Given the description of an element on the screen output the (x, y) to click on. 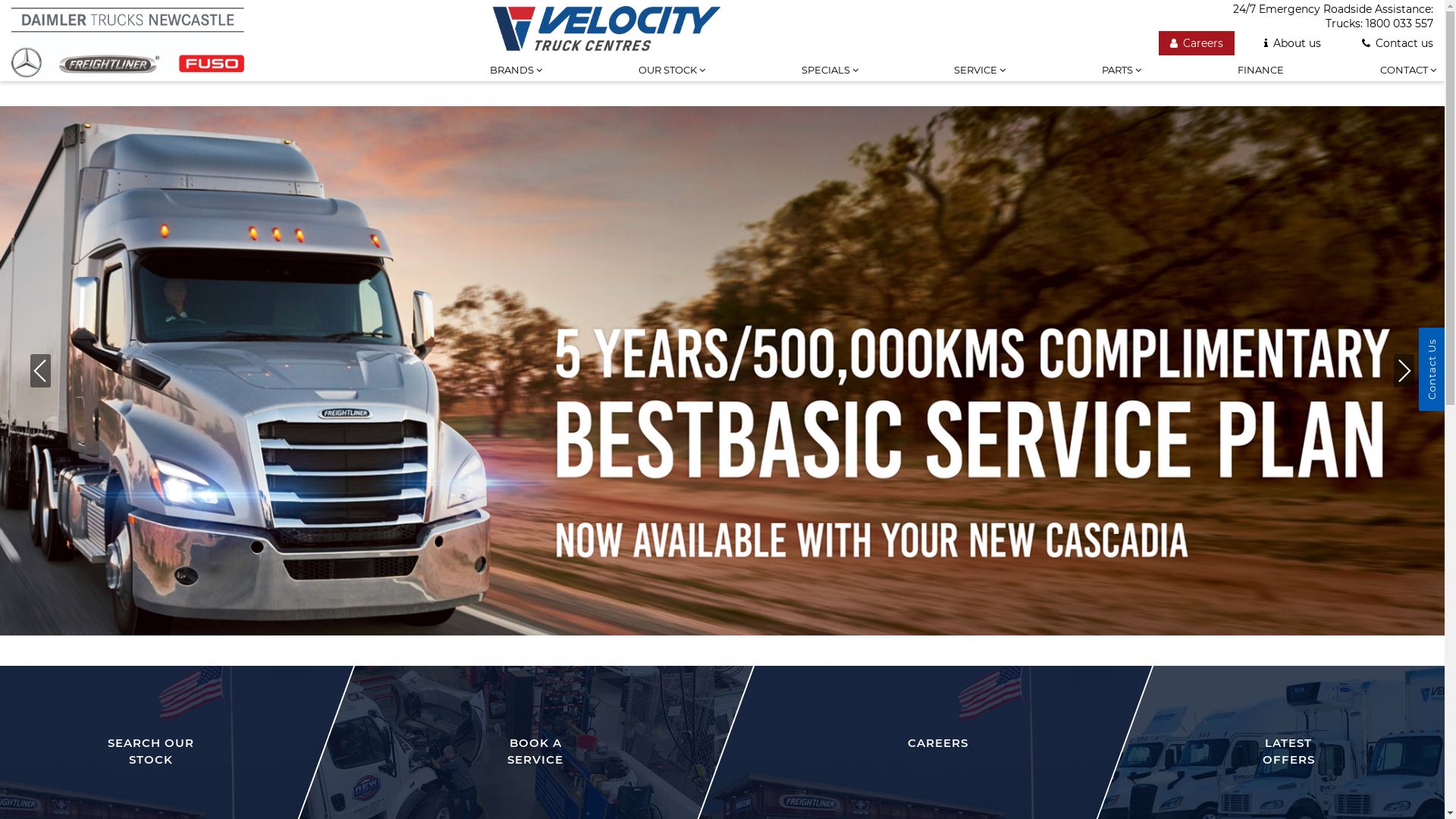
FINANCE Element type: text (1260, 80)
SPECIALS Element type: text (829, 80)
BRANDS Element type: text (515, 80)
CAREERS Element type: text (922, 708)
OUR STOCK Element type: text (671, 80)
Careers Element type: text (1196, 43)
SERVICE Element type: text (979, 80)
Contact us Element type: text (1397, 43)
1800 033 557 Element type: text (1399, 23)
Contact Us Element type: text (1431, 369)
CONTACT Element type: text (1408, 80)
BOOK A
SERVICE Element type: text (516, 716)
About us Element type: text (1292, 43)
PARTS Element type: text (1121, 80)
